Given the description of an element on the screen output the (x, y) to click on. 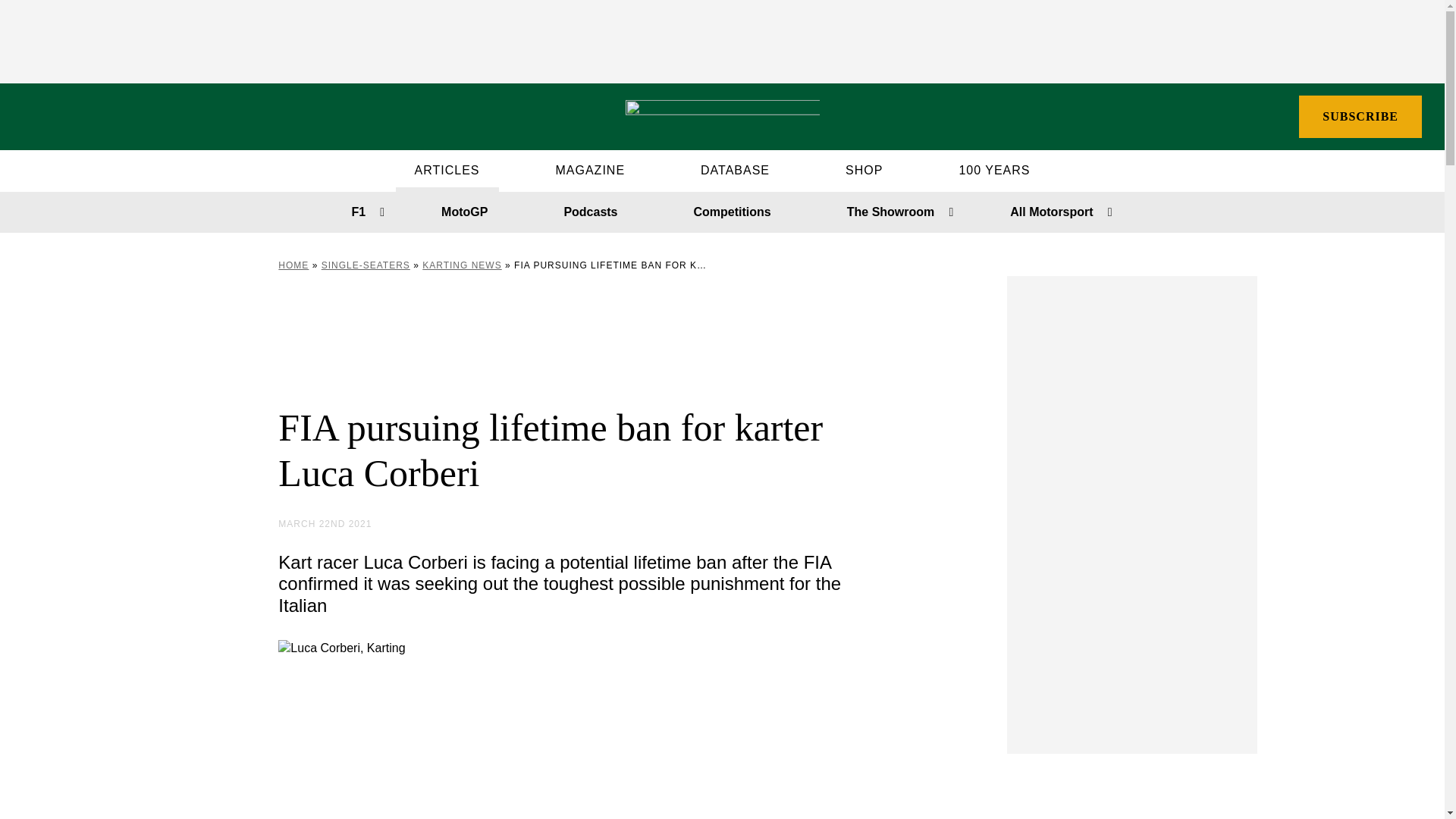
SUBSCRIBE (1360, 116)
MotoGP (464, 211)
ARTICLES (447, 169)
Competitions (732, 211)
MAGAZINE (589, 169)
The Showroom (890, 211)
F1 (357, 211)
All Motorsport (1051, 211)
Podcasts (590, 211)
